Given the description of an element on the screen output the (x, y) to click on. 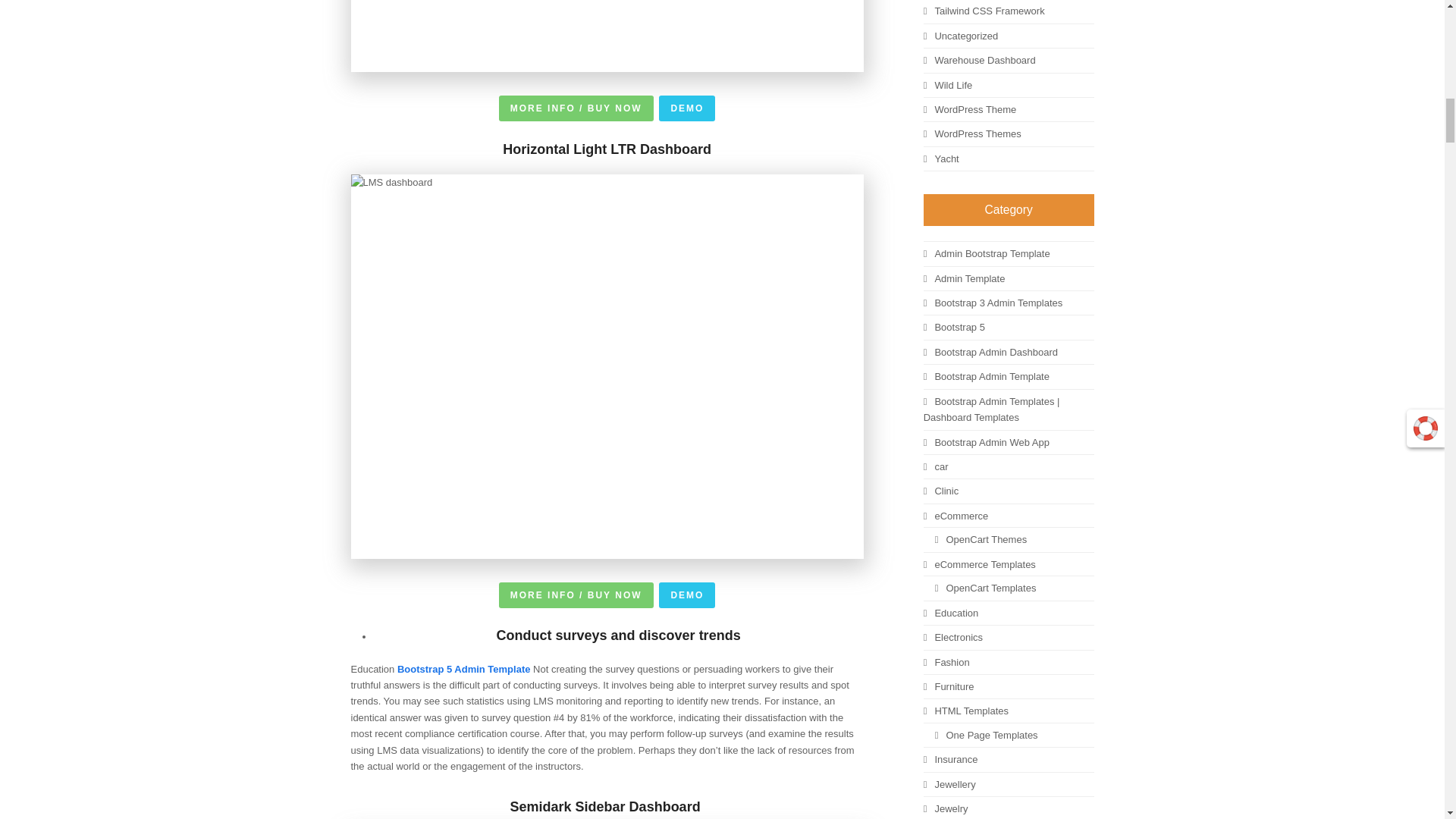
DEMO (686, 595)
Bootstrap 5 Admin Template (464, 668)
DEMO (686, 108)
